Given the description of an element on the screen output the (x, y) to click on. 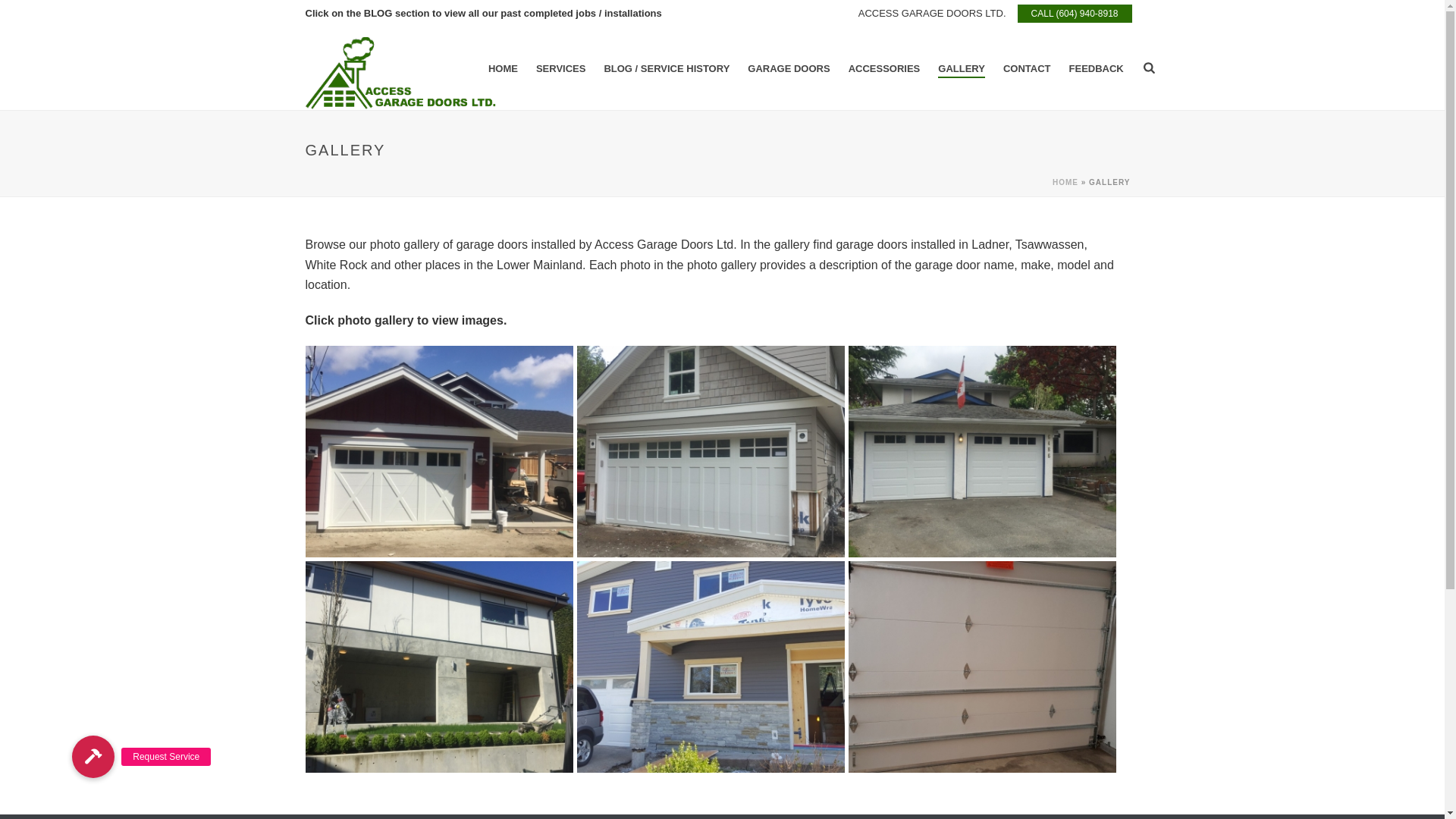
CALL (604) 940-8918 Element type: text (1074, 13)
Gallery 6 Element type: hover (982, 666)
HOME Element type: text (1065, 182)
Gallery 5 Element type: hover (710, 666)
BLOG / SERVICE HISTORY Element type: text (666, 68)
Gallery 1 Element type: hover (438, 451)
CONTACT Element type: text (1027, 68)
GARAGE DOORS Element type: text (788, 68)
ACCESS GARAGE DOORS LTD. Element type: text (932, 12)
Request Service Element type: text (93, 756)
HOME Element type: text (503, 68)
Gallery 2 Element type: hover (710, 451)
Access Garage Doors Element type: hover (399, 67)
GALLERY Element type: text (961, 68)
Gallery 3 Element type: hover (982, 451)
Gallery 4 Element type: hover (438, 666)
FEEDBACK Element type: text (1096, 68)
ACCESSORIES Element type: text (884, 68)
SERVICES Element type: text (561, 68)
